Given the description of an element on the screen output the (x, y) to click on. 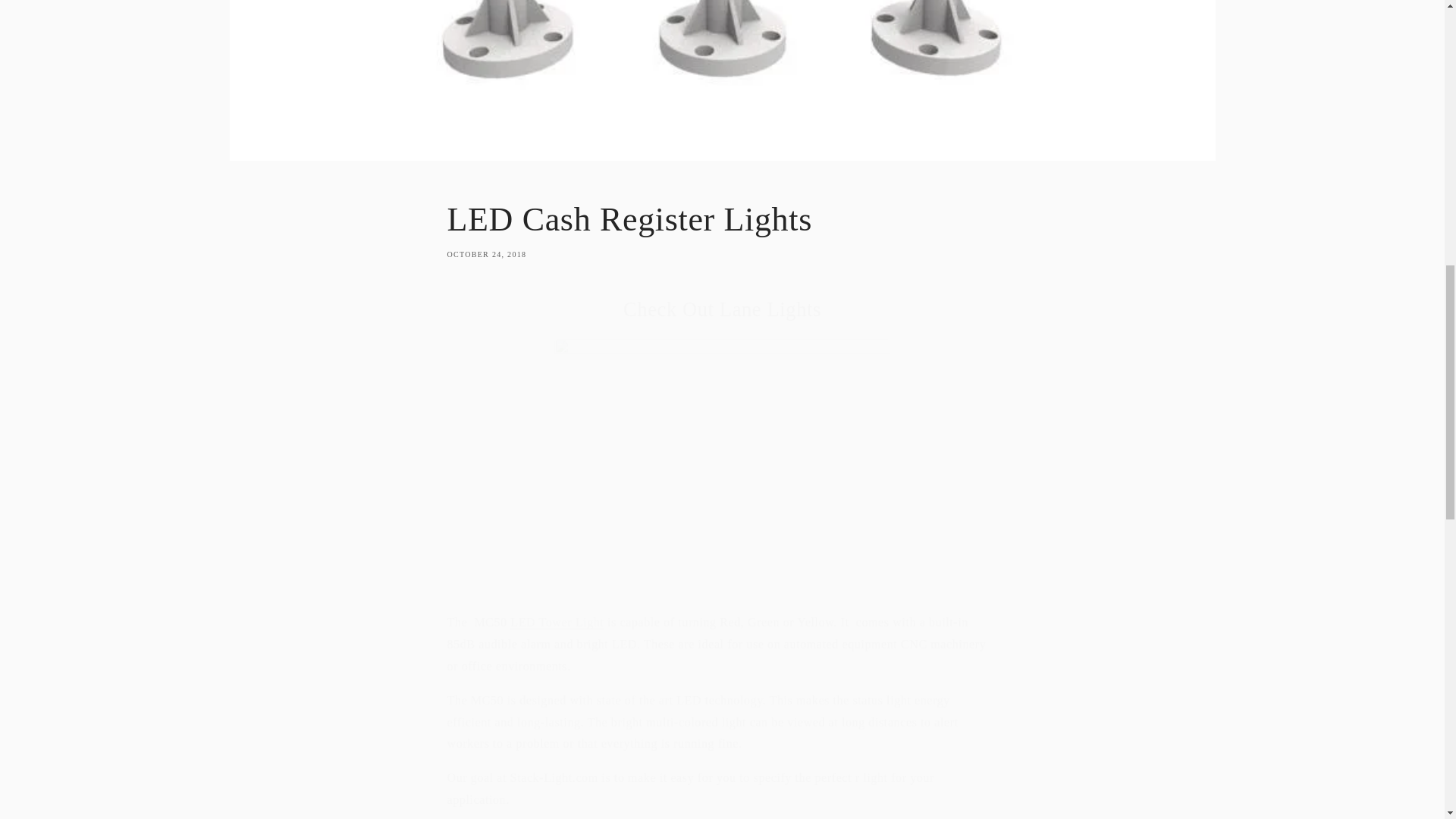
LED Tower Light (721, 229)
